Given the description of an element on the screen output the (x, y) to click on. 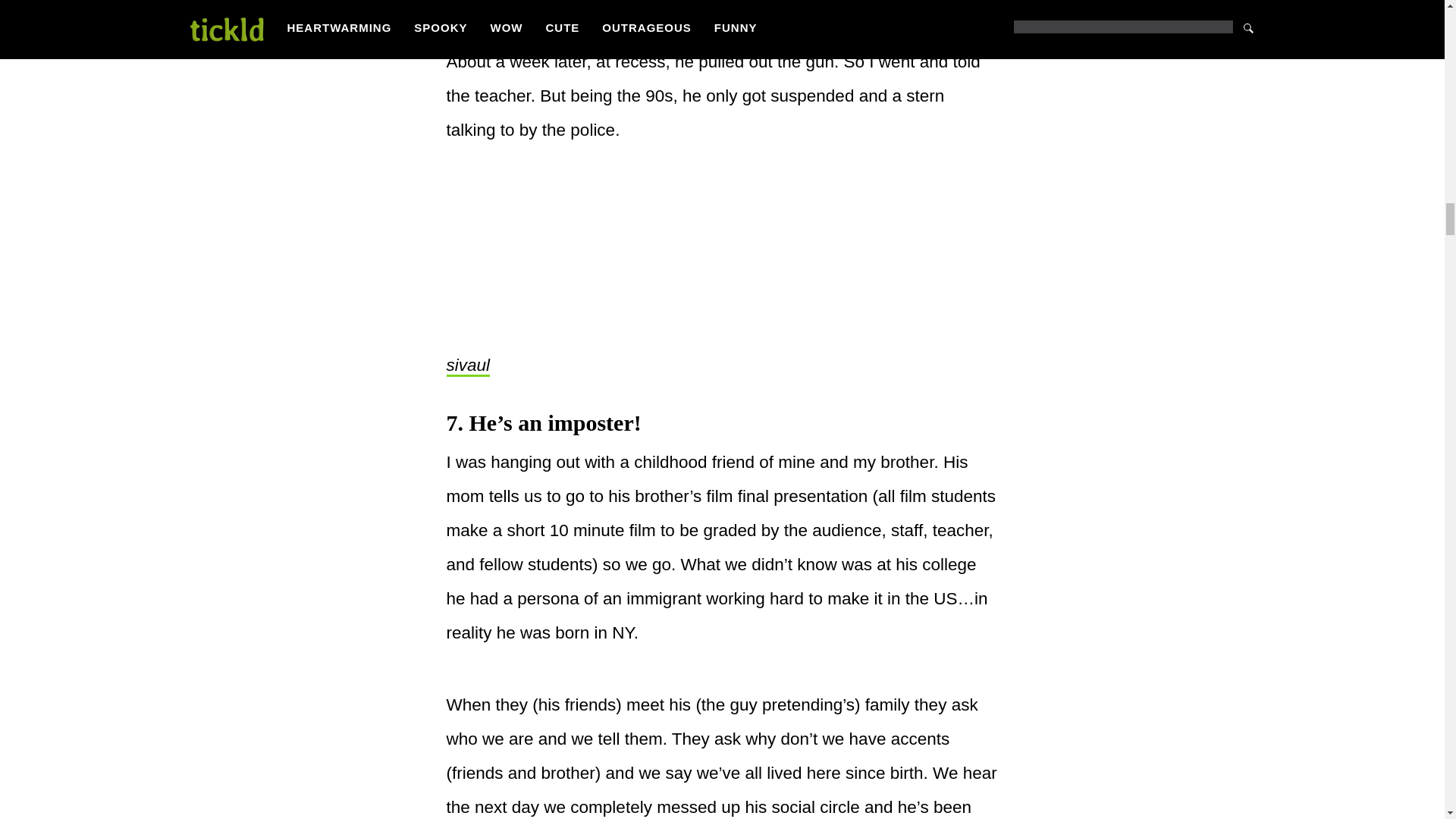
sivaul (467, 365)
